Given the description of an element on the screen output the (x, y) to click on. 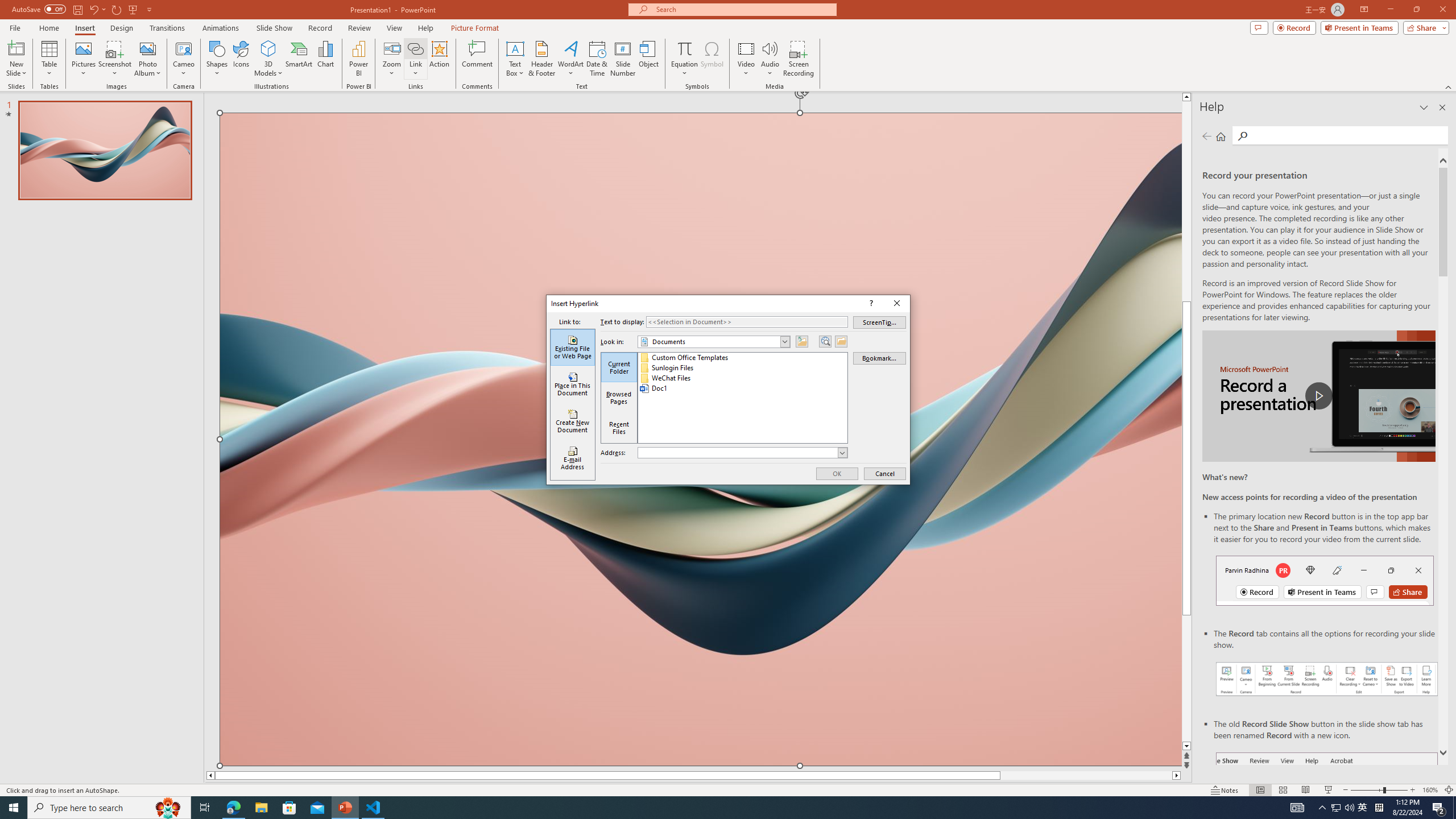
OK (837, 473)
Browse for File (840, 341)
